Given the description of an element on the screen output the (x, y) to click on. 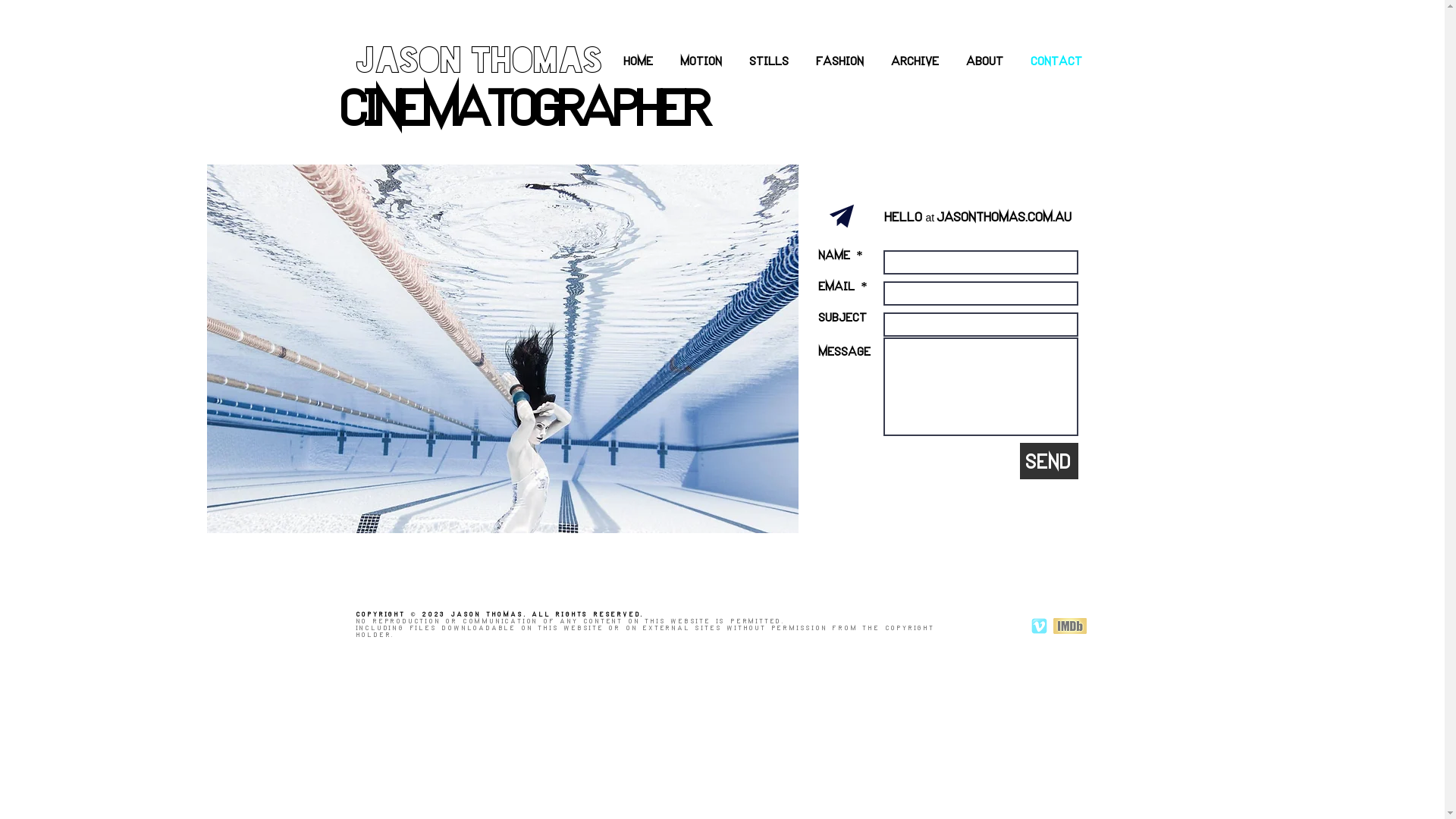
Kirstin2-18.jpg Element type: hover (501, 348)
Send Element type: text (1048, 460)
About Element type: text (984, 61)
Fashion Element type: text (839, 61)
IMDb logo.png Element type: hover (1068, 625)
Motion Element type: text (701, 61)
Stills Element type: text (768, 61)
Archive Element type: text (915, 61)
Contact Element type: text (1056, 61)
Vimeo-Button.png Element type: hover (1039, 625)
Home Element type: text (637, 61)
